Given the description of an element on the screen output the (x, y) to click on. 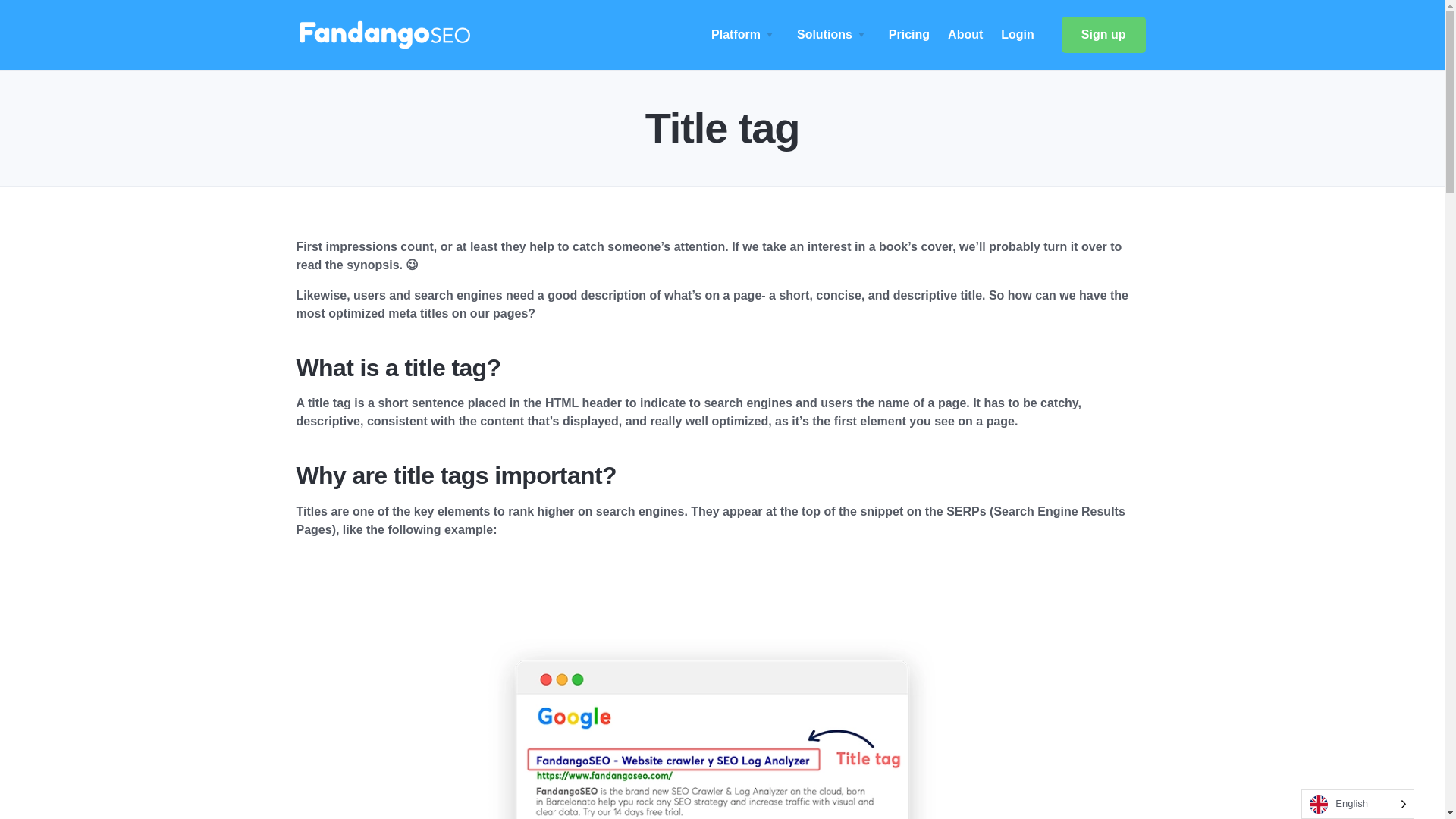
Pricing (909, 34)
Platform (744, 34)
Solutions (833, 34)
Solutions (833, 34)
Sign up (1103, 34)
Platform (744, 34)
About (965, 34)
Login (1017, 34)
